Given the description of an element on the screen output the (x, y) to click on. 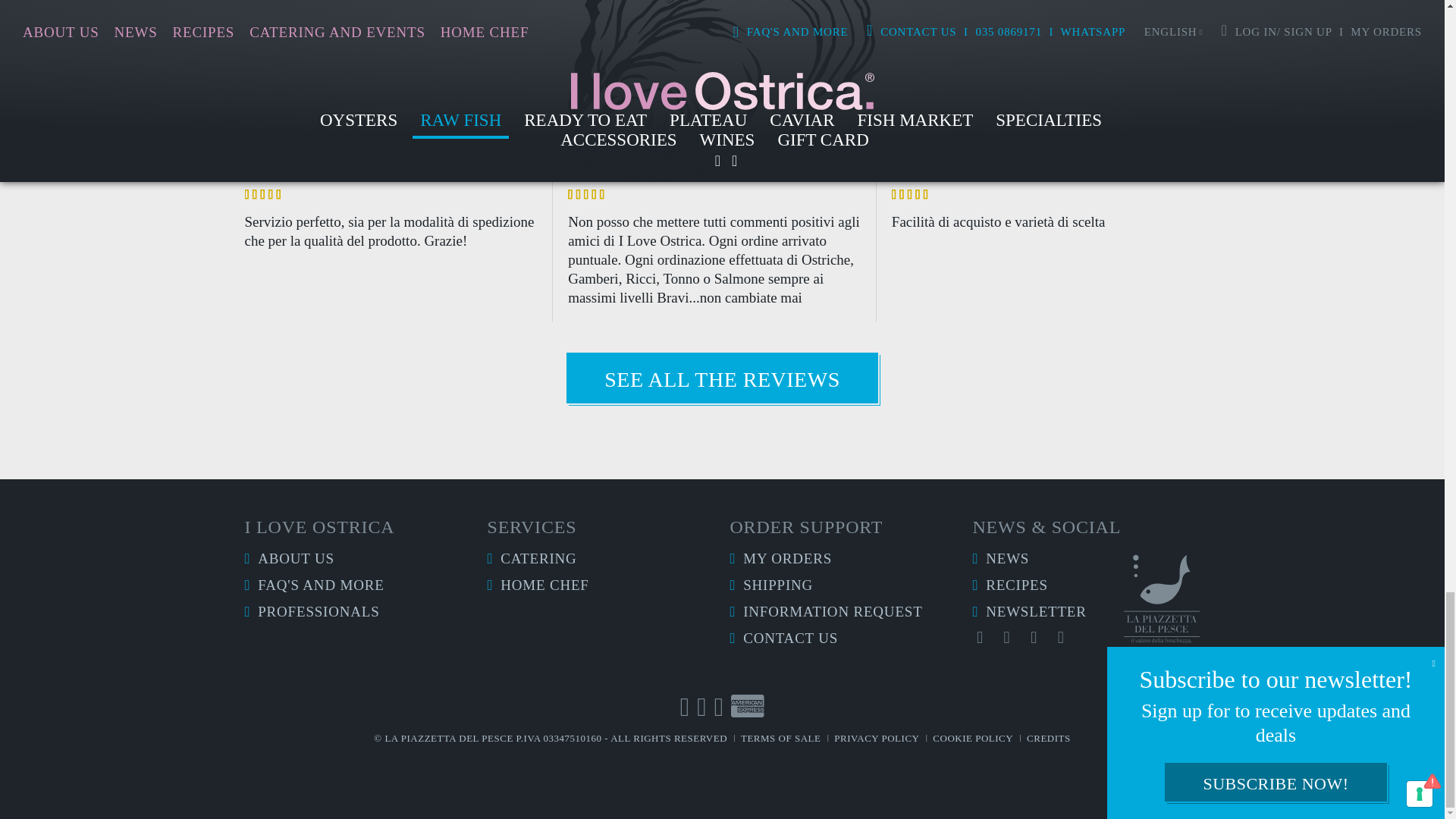
Instagram (1034, 637)
YouTube (1006, 637)
Cookie Policy (973, 737)
Twitter (1060, 637)
Facebook (979, 637)
Privacy Policy (876, 737)
